Given the description of an element on the screen output the (x, y) to click on. 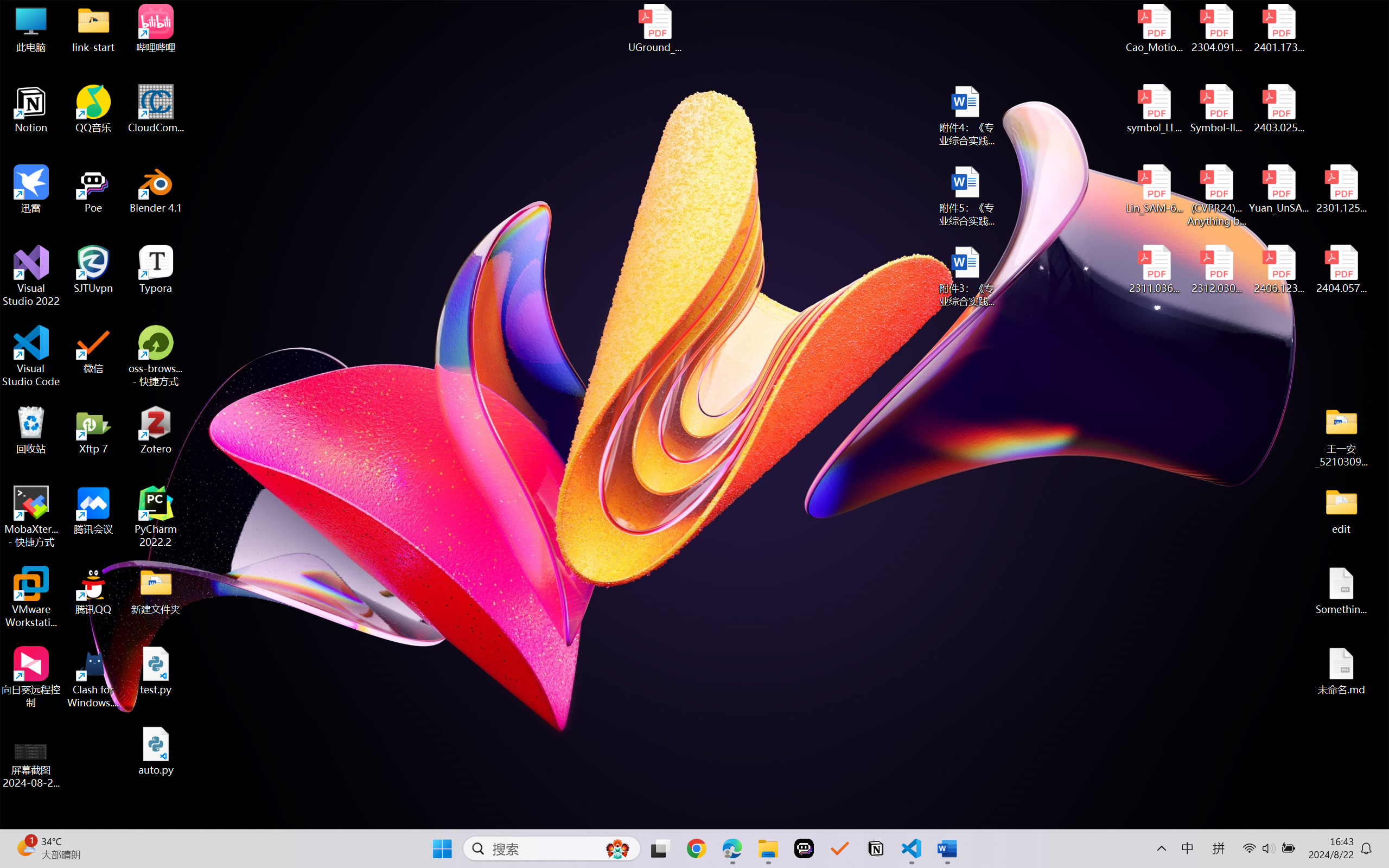
Xftp 7 (93, 430)
UGround_paper.pdf (654, 28)
Visual Studio 2022 (31, 276)
